Given the description of an element on the screen output the (x, y) to click on. 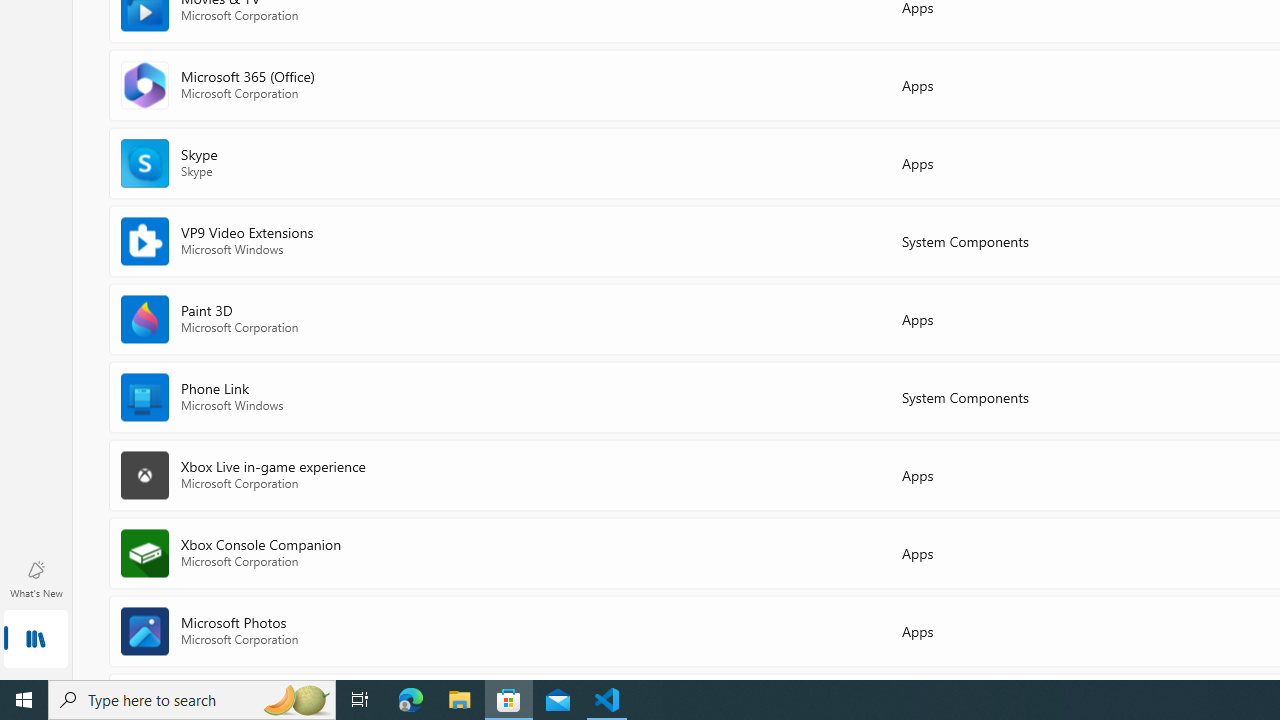
What's New (35, 578)
Library (35, 640)
